Given the description of an element on the screen output the (x, y) to click on. 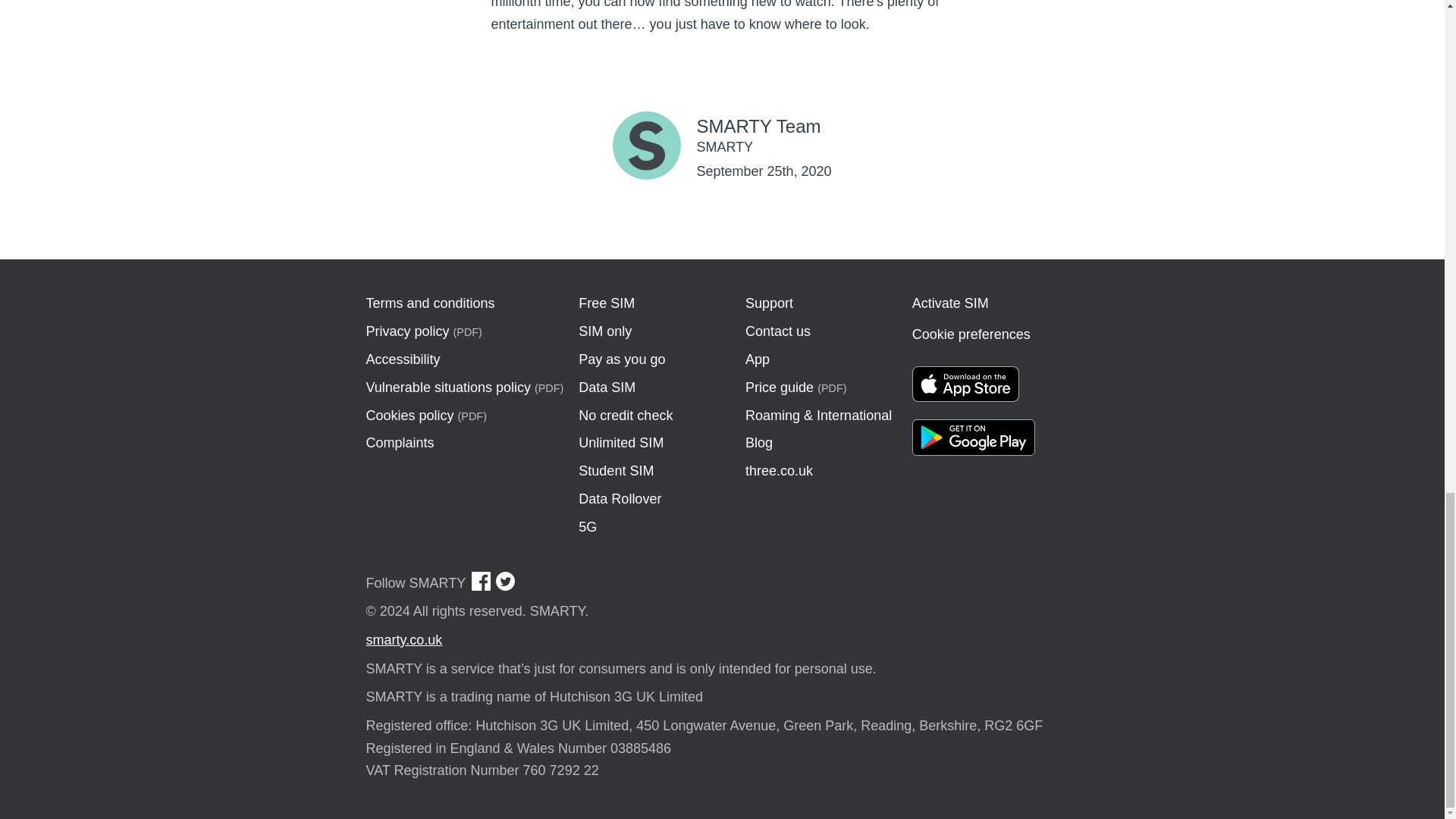
Student SIM (615, 470)
Data Rollover (619, 498)
SIM only (604, 331)
Terms and conditions (430, 303)
Data SIM (606, 387)
App (757, 359)
5G (587, 526)
Support (769, 303)
Pay as you go (621, 359)
Complaints (399, 442)
No credit check (625, 415)
Blog (759, 442)
Contact us (777, 331)
Accessibility (402, 359)
Unlimited SIM (620, 442)
